Given the description of an element on the screen output the (x, y) to click on. 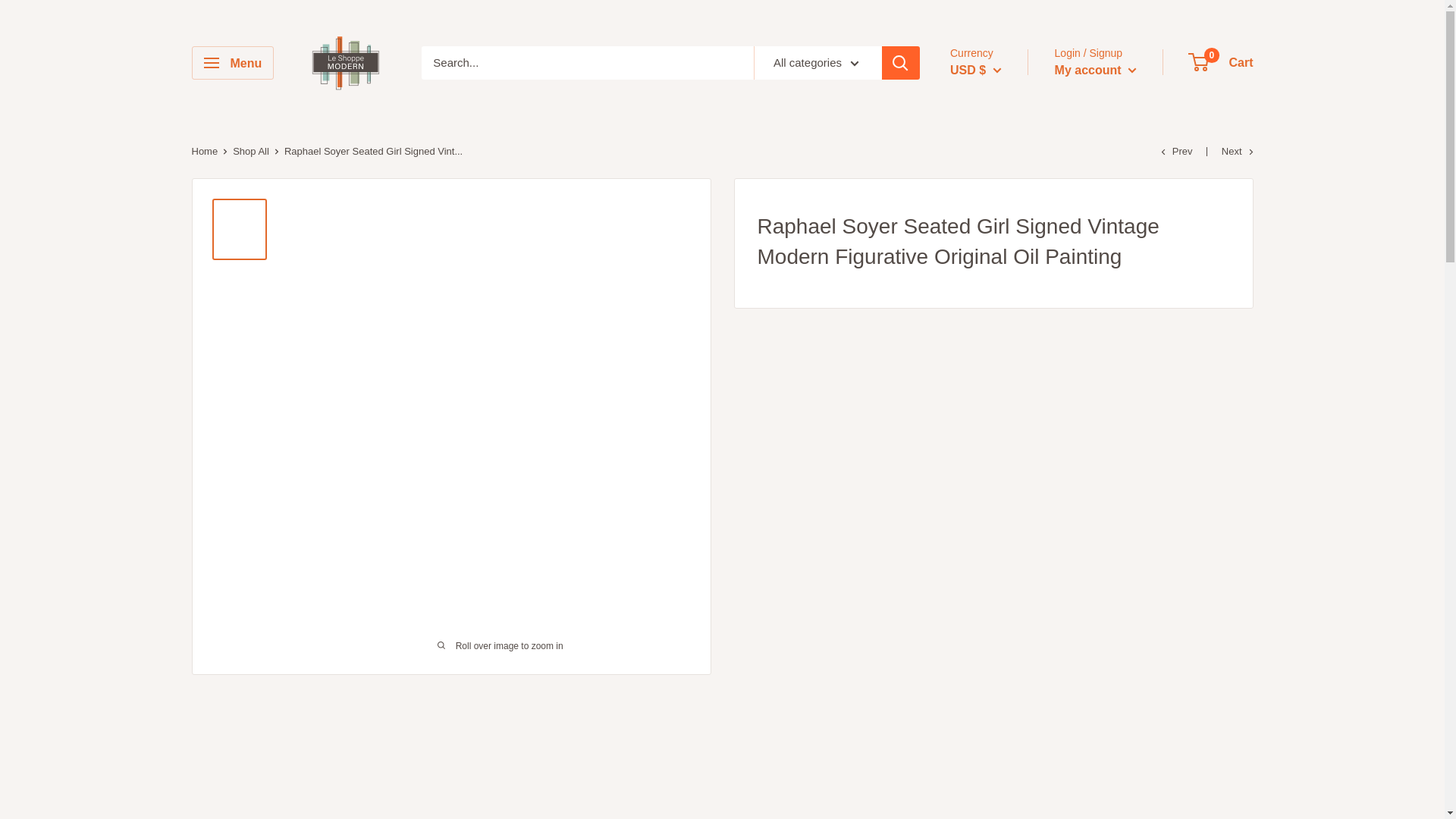
Menu (231, 61)
